Given the description of an element on the screen output the (x, y) to click on. 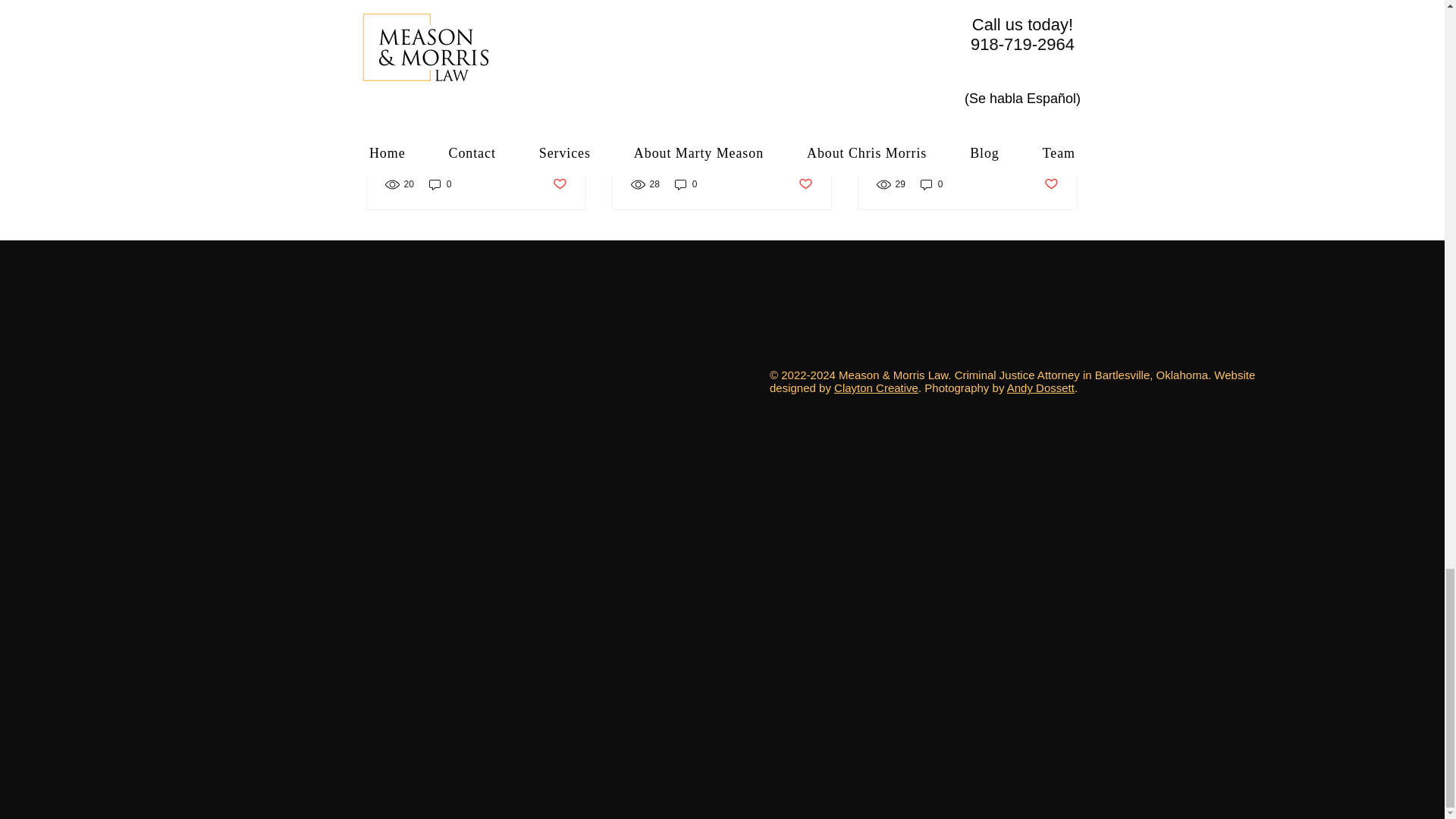
What To Expect During a Criminal Trial (476, 131)
0 (440, 184)
Post not marked as liked (558, 184)
